Given the description of an element on the screen output the (x, y) to click on. 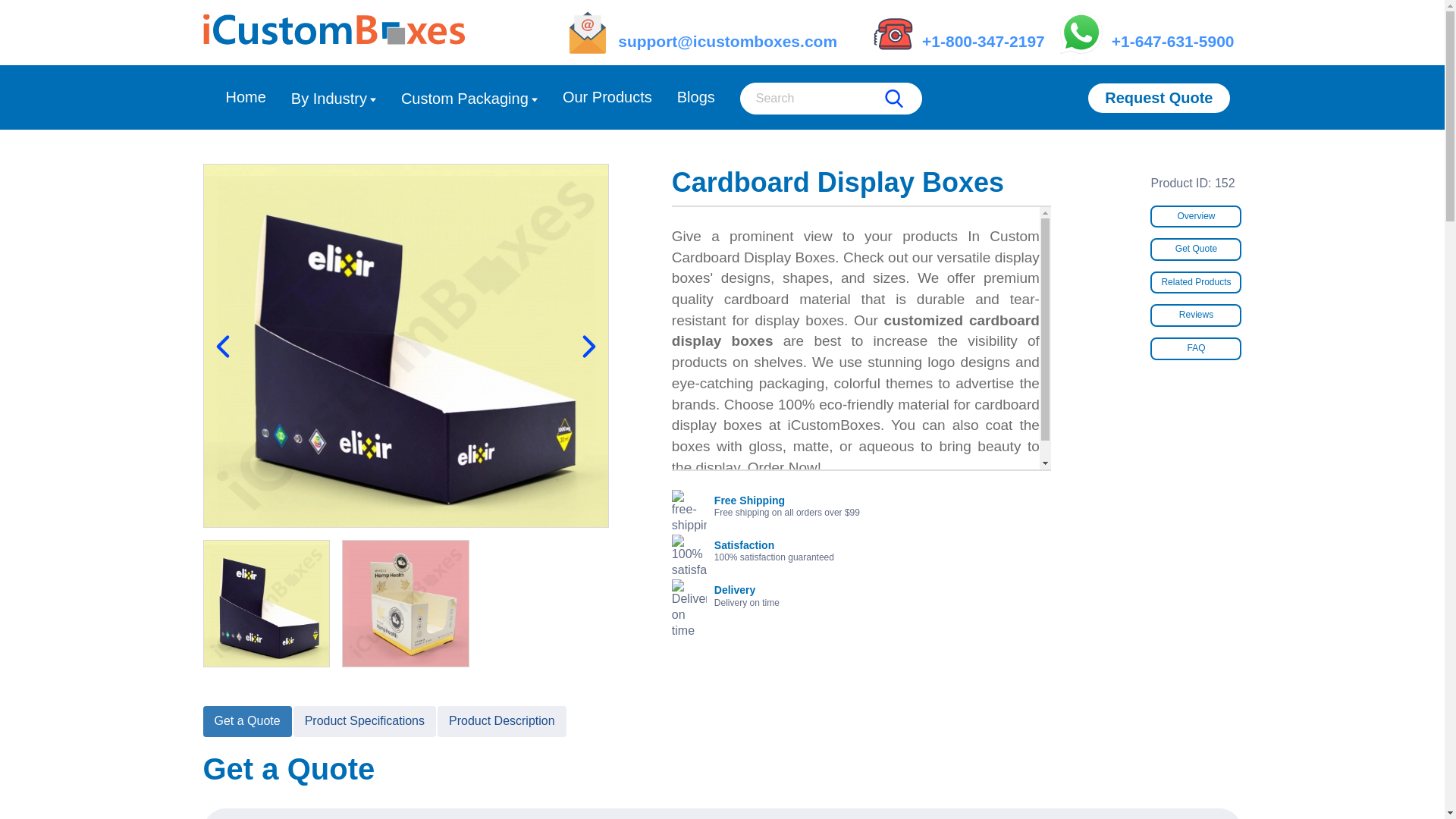
Home (245, 96)
By Industry (333, 98)
